Given the description of an element on the screen output the (x, y) to click on. 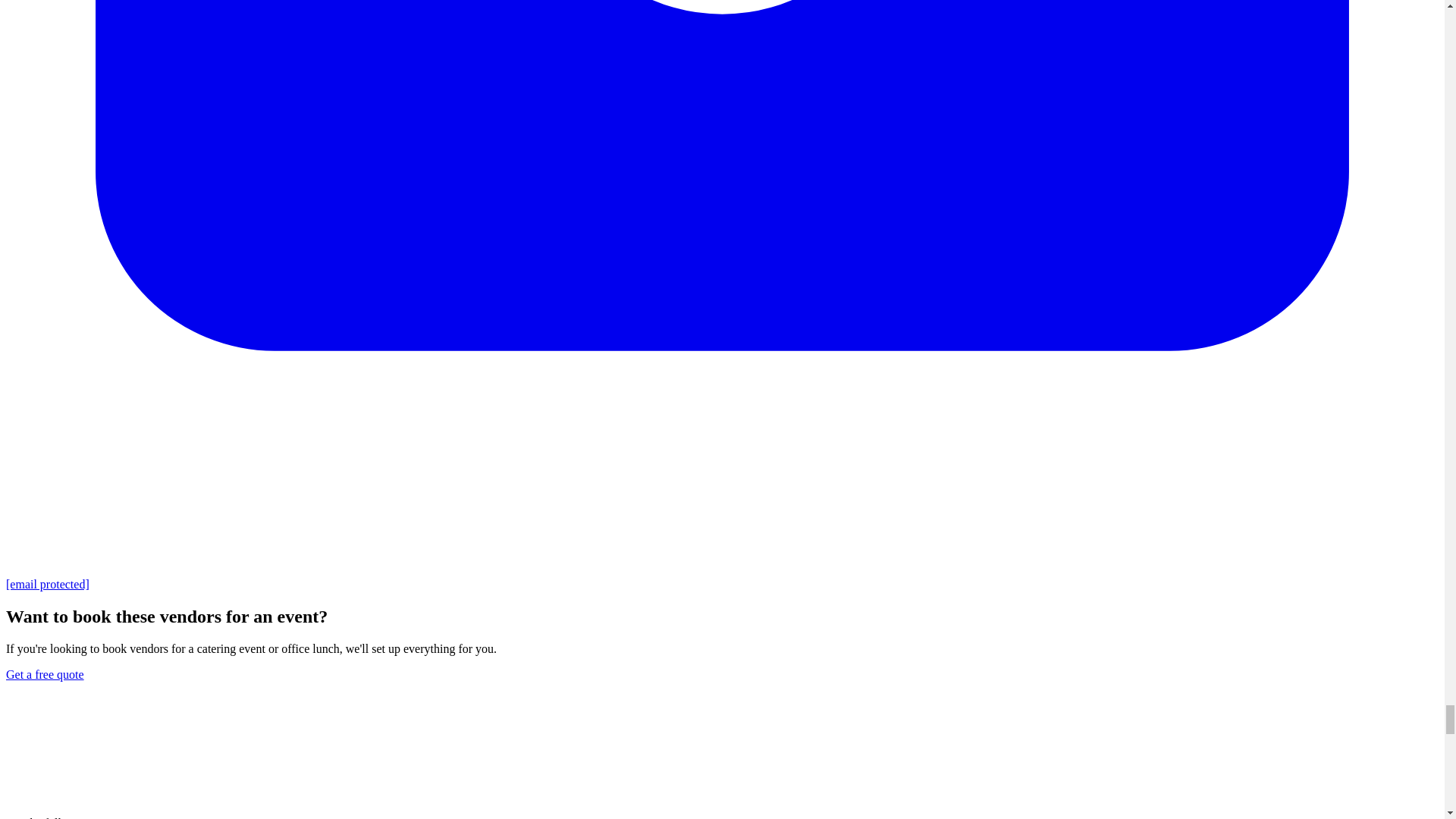
Get a free quote (44, 674)
